Given the description of an element on the screen output the (x, y) to click on. 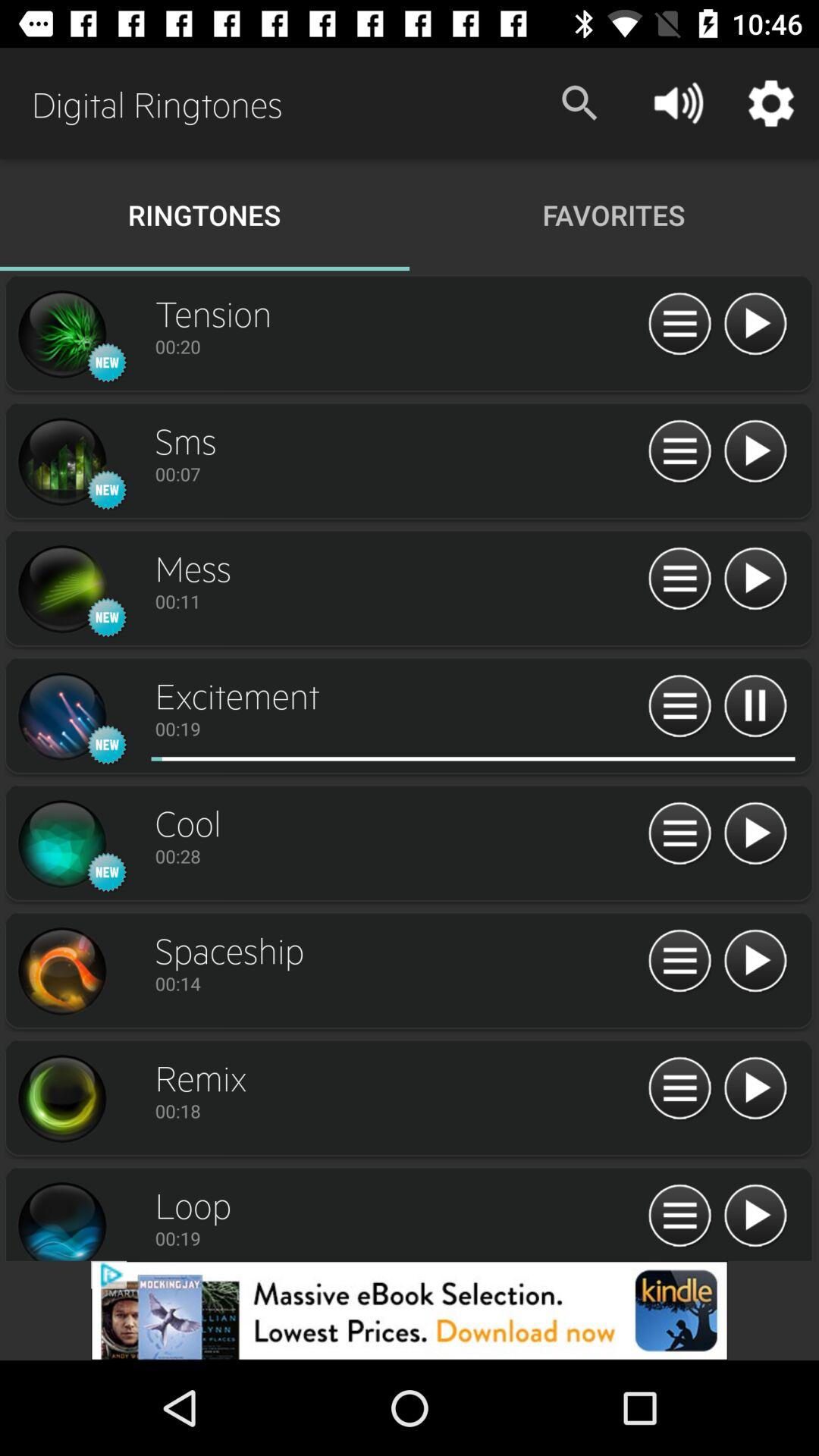
excitement option (404, 758)
